Given the description of an element on the screen output the (x, y) to click on. 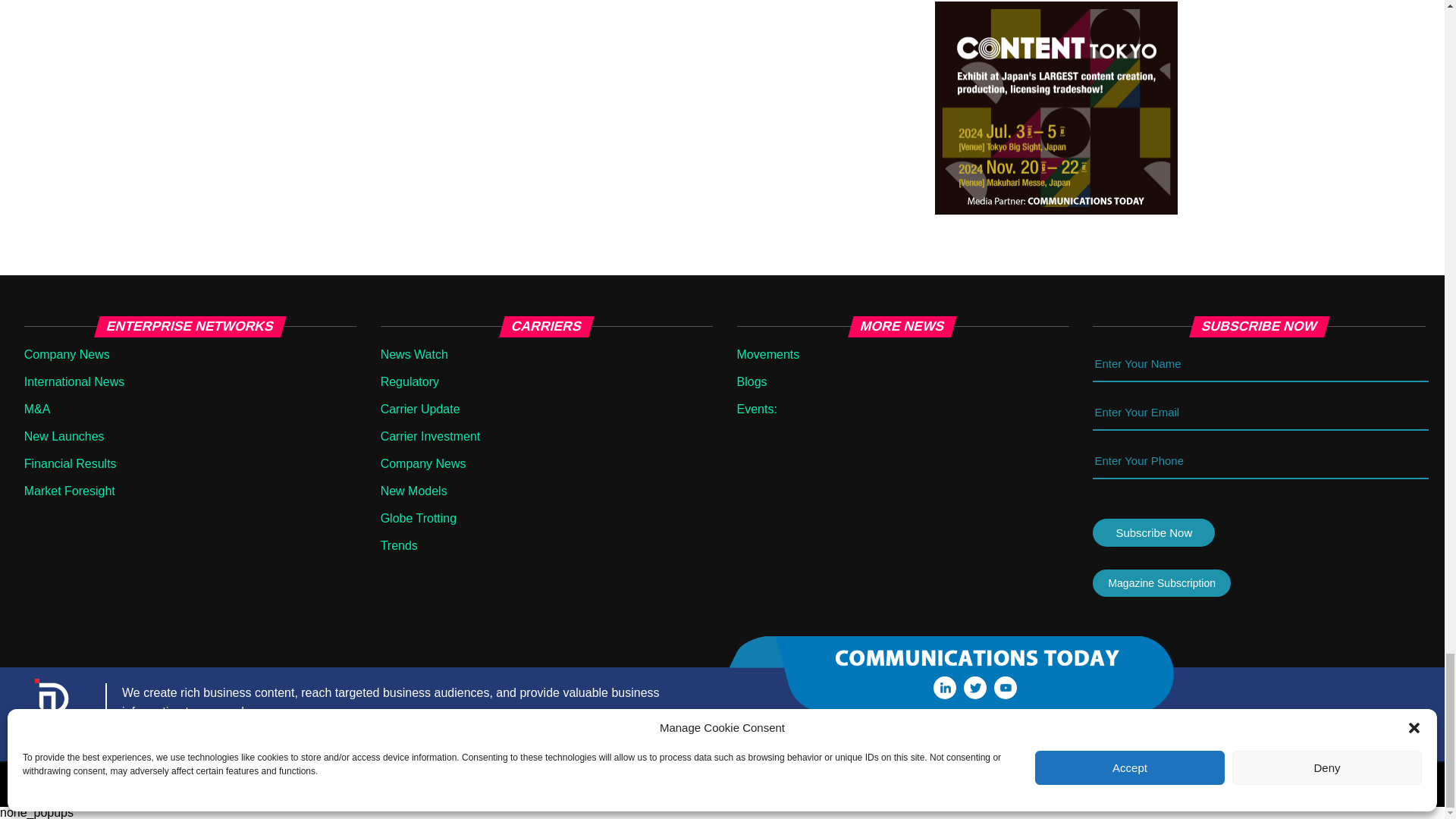
Subscribe Now (1153, 532)
